Given the description of an element on the screen output the (x, y) to click on. 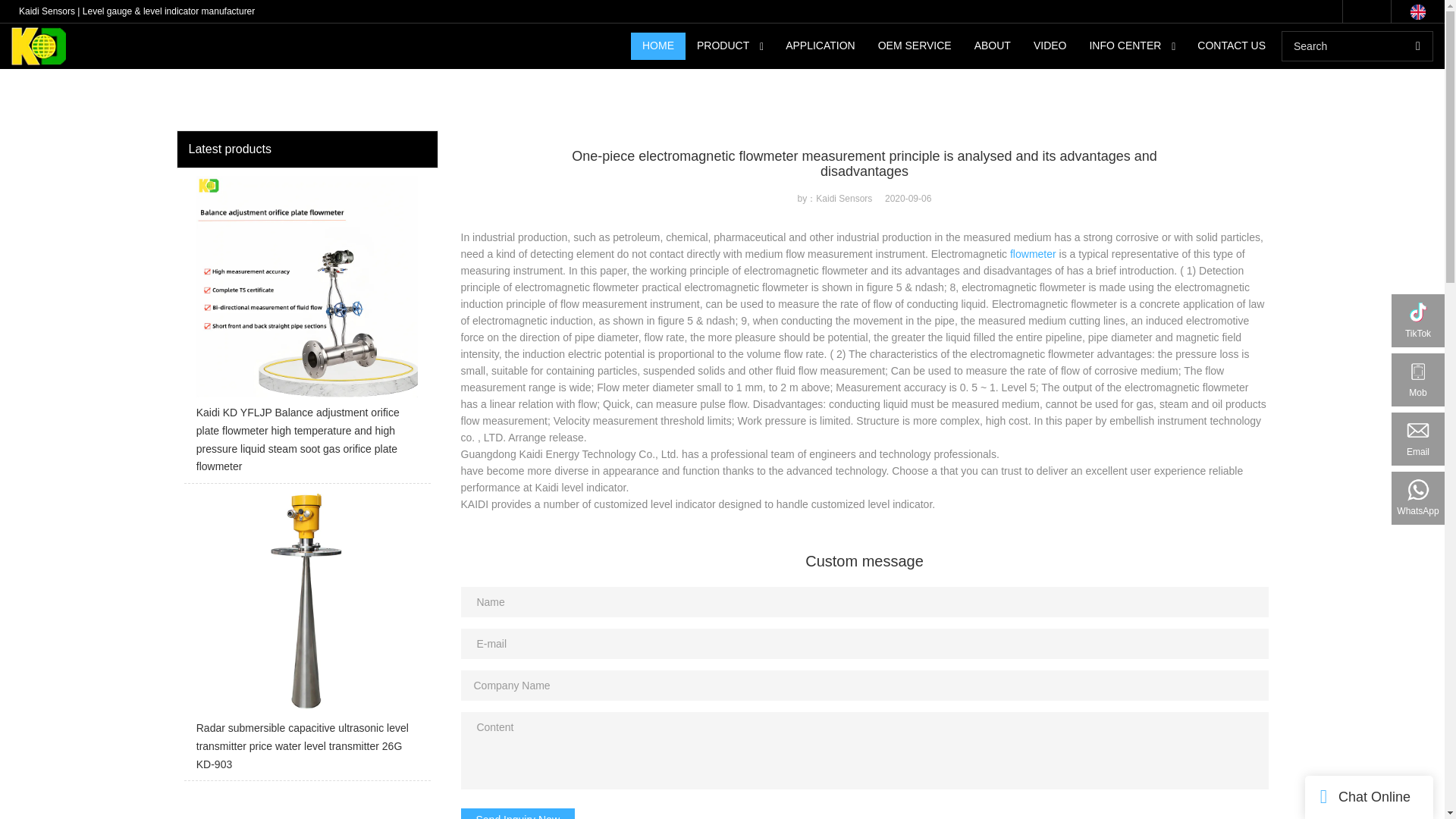
APPLICATION (820, 45)
PRODUCT (722, 45)
CONTACT US (1231, 45)
ABOUT (992, 45)
OEM SERVICE (914, 45)
Kaidi Sensors (203, 13)
HOME (657, 45)
VIDEO (1050, 45)
INFO CENTER (1124, 45)
